Given the description of an element on the screen output the (x, y) to click on. 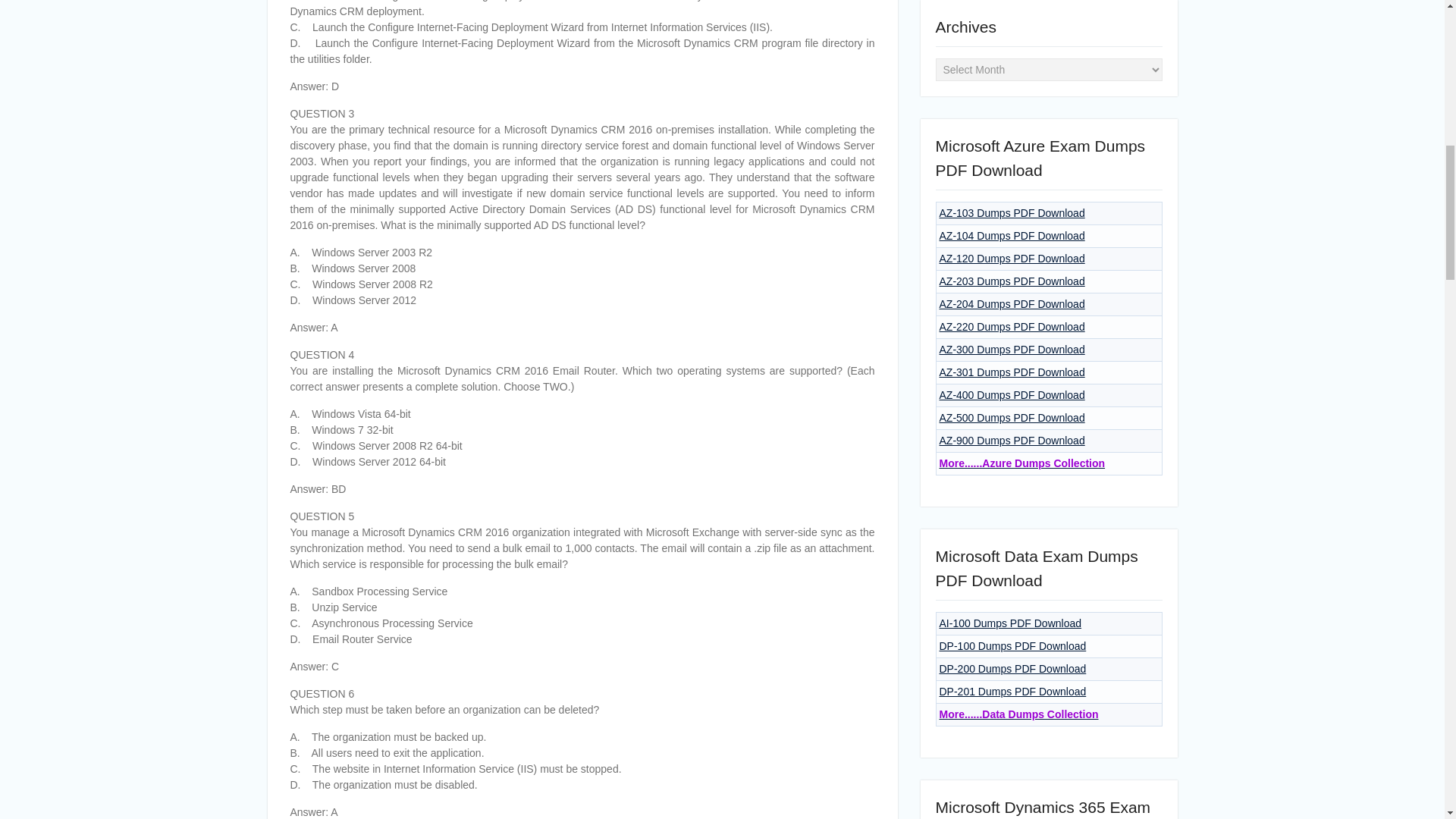
AZ-400 Dumps PDF Download (1011, 395)
DP-100 Dumps PDF Download (1012, 645)
AZ-103 Dumps PDF Download (1011, 213)
AI-100 Dumps PDF Download (1010, 623)
AZ-120 Dumps PDF Download (1011, 258)
AZ-203 Dumps PDF Download (1011, 281)
AZ-500 Dumps PDF Download (1011, 417)
AZ-220 Dumps PDF Download (1011, 326)
AZ-300 Dumps PDF Download (1011, 349)
AZ-900 Dumps PDF Download (1011, 440)
AZ-204 Dumps PDF Download (1011, 304)
More......Azure Dumps Collection (1022, 463)
AZ-301 Dumps PDF Download (1011, 372)
AZ-104 Dumps PDF Download (1011, 235)
